Given the description of an element on the screen output the (x, y) to click on. 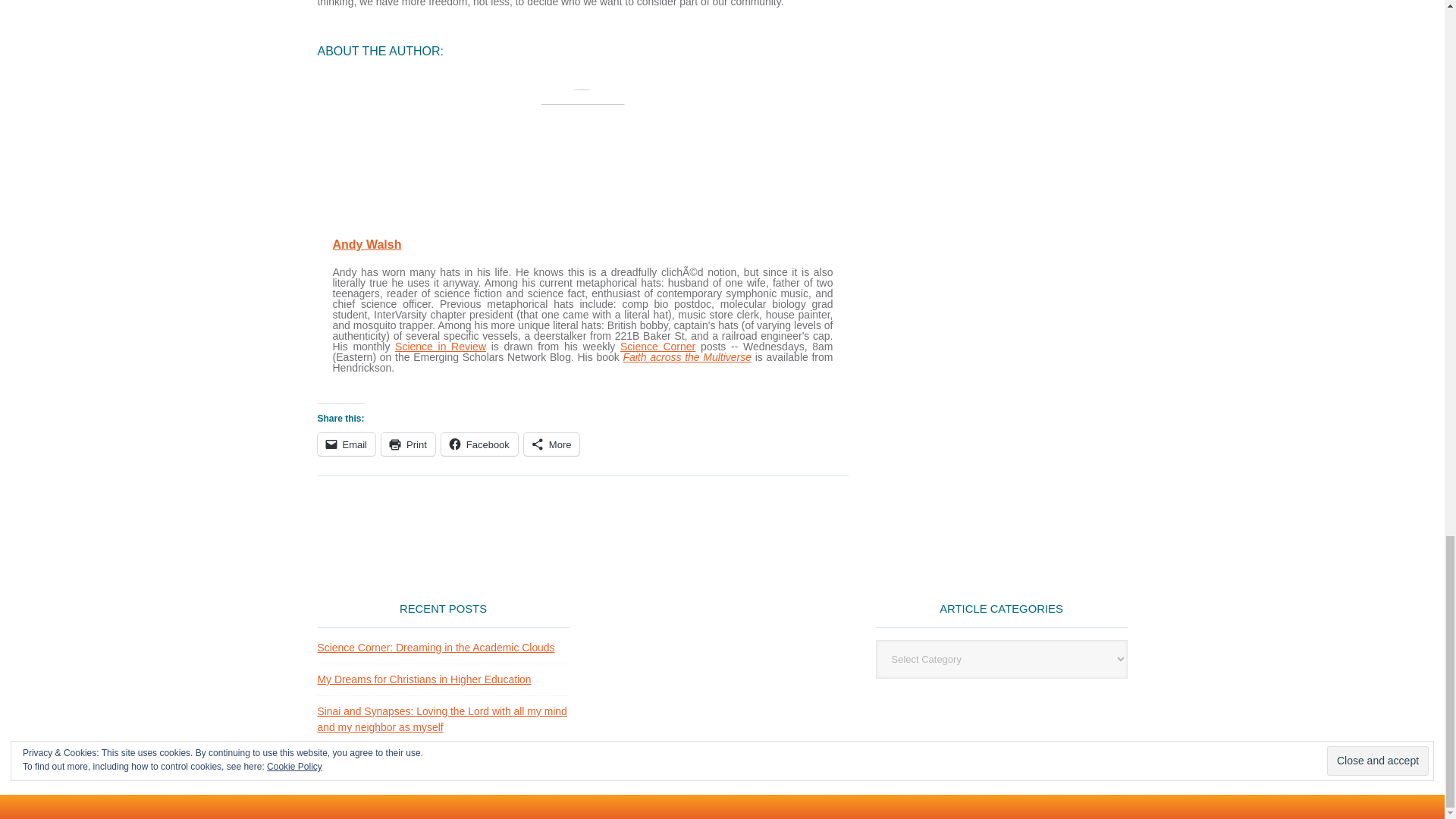
Click to print (408, 444)
Email (346, 444)
Andy Walsh (366, 244)
Science Corner (657, 346)
Click to email a link to a friend (346, 444)
Science in Review (440, 346)
Print (408, 444)
Click to share on Facebook (479, 444)
Faith across the Multiverse (687, 357)
Facebook (479, 444)
More (551, 444)
